Given the description of an element on the screen output the (x, y) to click on. 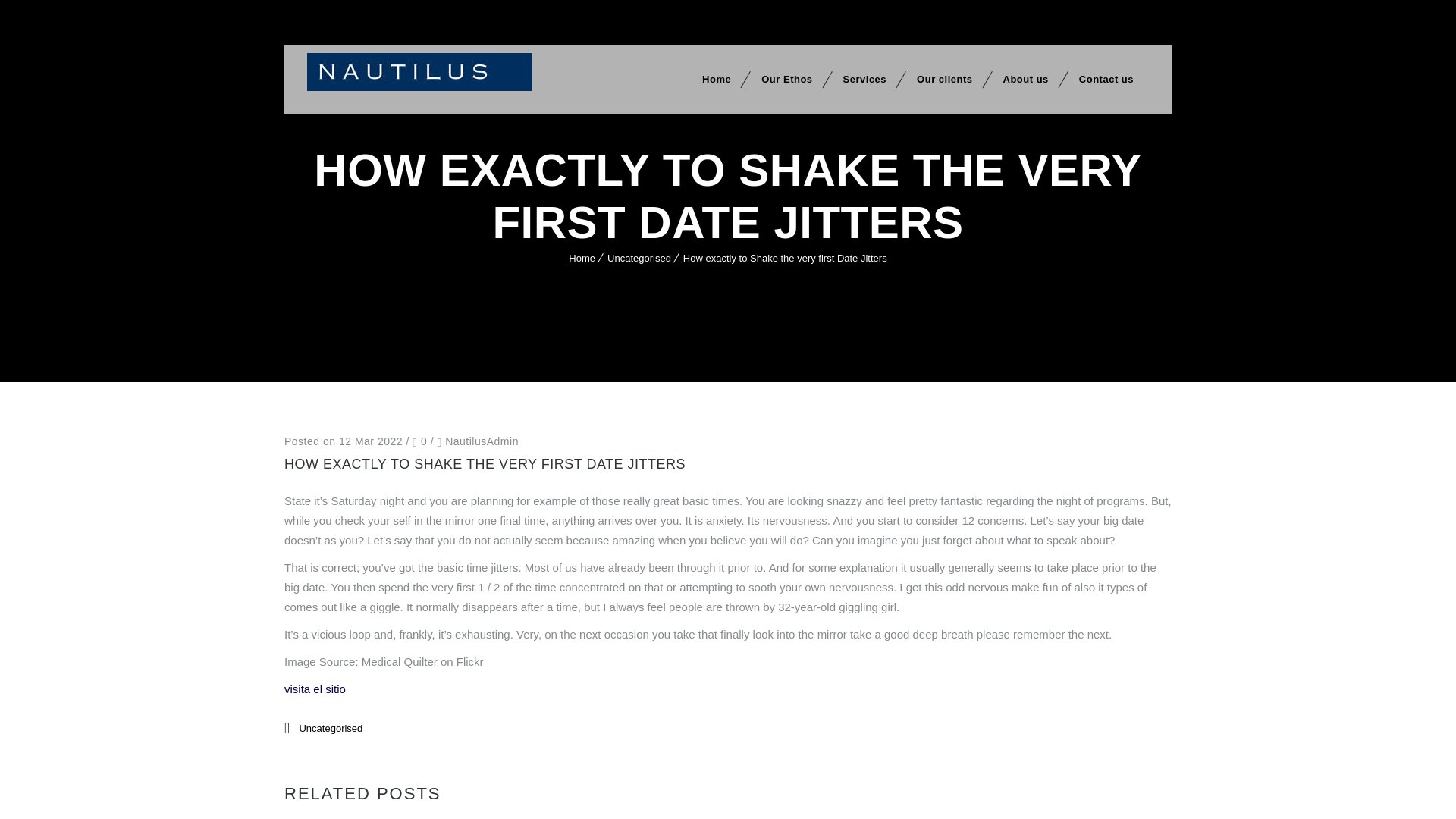
View all posts by NautilusAdmin (481, 440)
How exactly to Shake the very first Date Jitters (784, 257)
Contact us (1106, 79)
HOW EXACTLY TO SHAKE THE VERY FIRST DATE JITTERS (484, 463)
About us (1024, 79)
visita el sitio (314, 688)
Uncategorised (639, 257)
Services (865, 79)
0 (419, 440)
Our Ethos (786, 79)
Nautilus (419, 71)
Uncategorised (330, 727)
Home (582, 257)
Our clients (944, 79)
NautilusAdmin (481, 440)
